Given the description of an element on the screen output the (x, y) to click on. 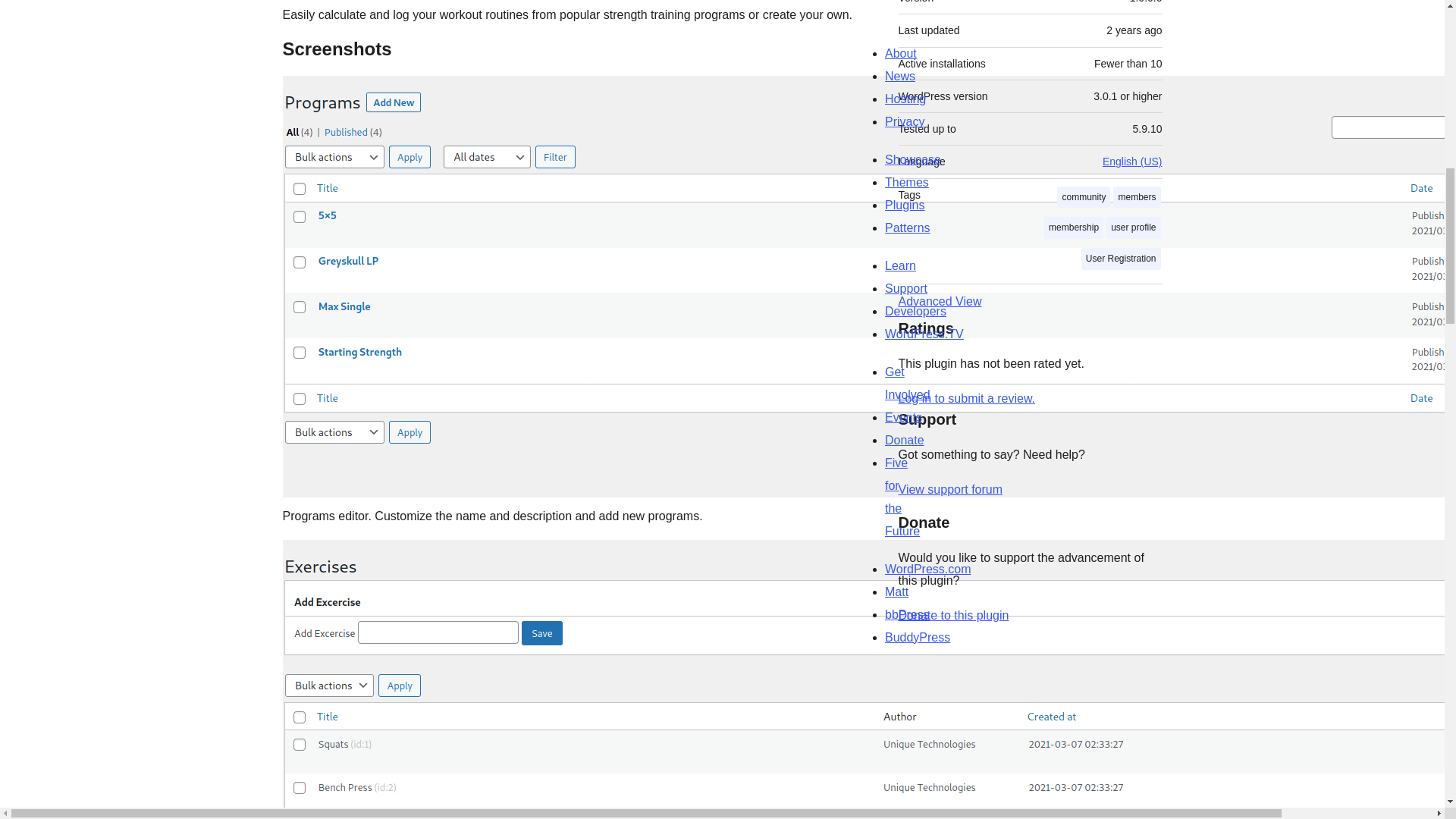
Log in to WordPress.org (966, 398)
WordPress.org (864, 668)
WordPress.org (1014, 668)
